Given the description of an element on the screen output the (x, y) to click on. 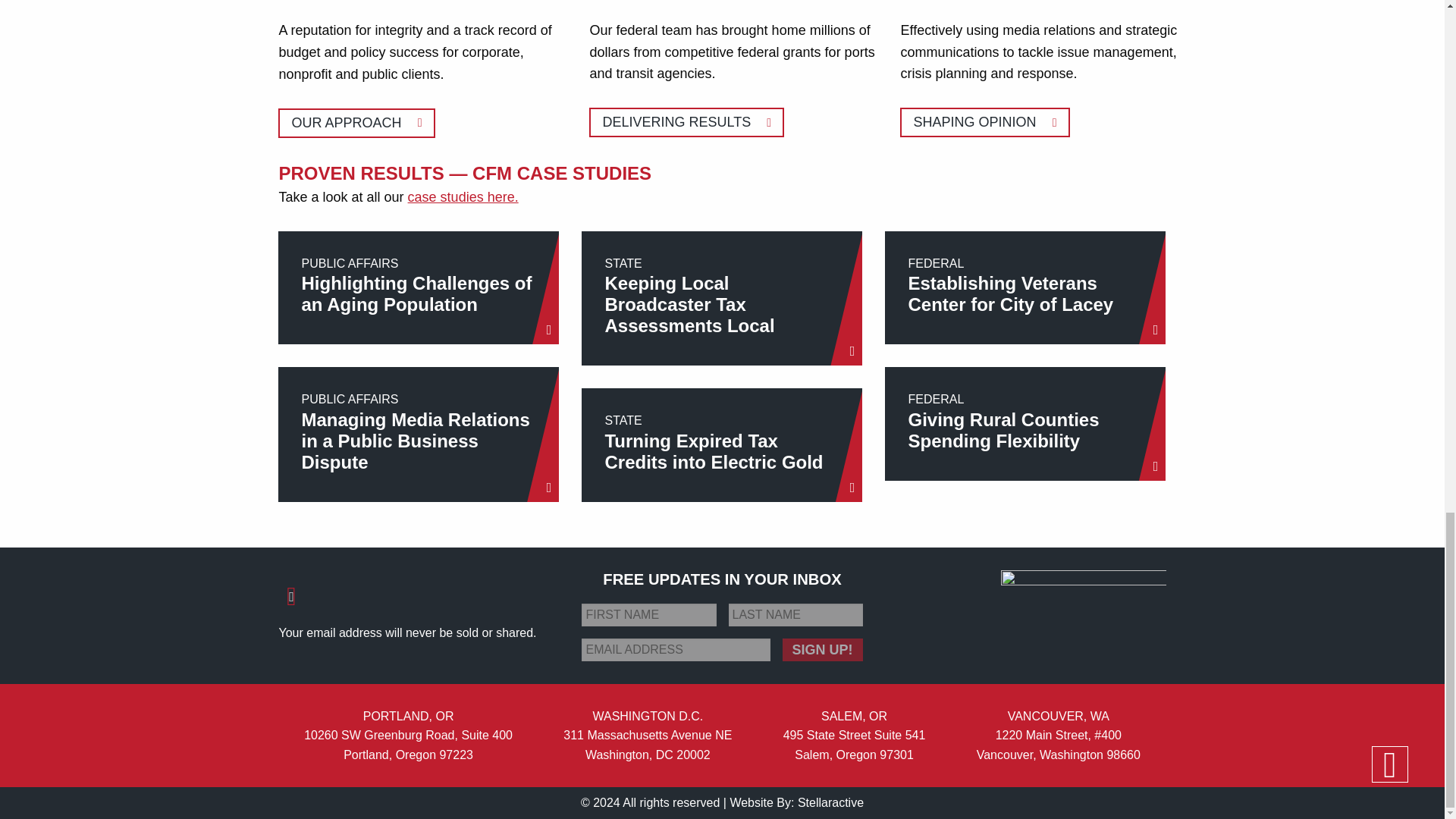
DELIVERING RESULTS (1025, 423)
State Affairs (686, 122)
SHAPING OPINION (720, 445)
Stellaractive (1025, 287)
